Given the description of an element on the screen output the (x, y) to click on. 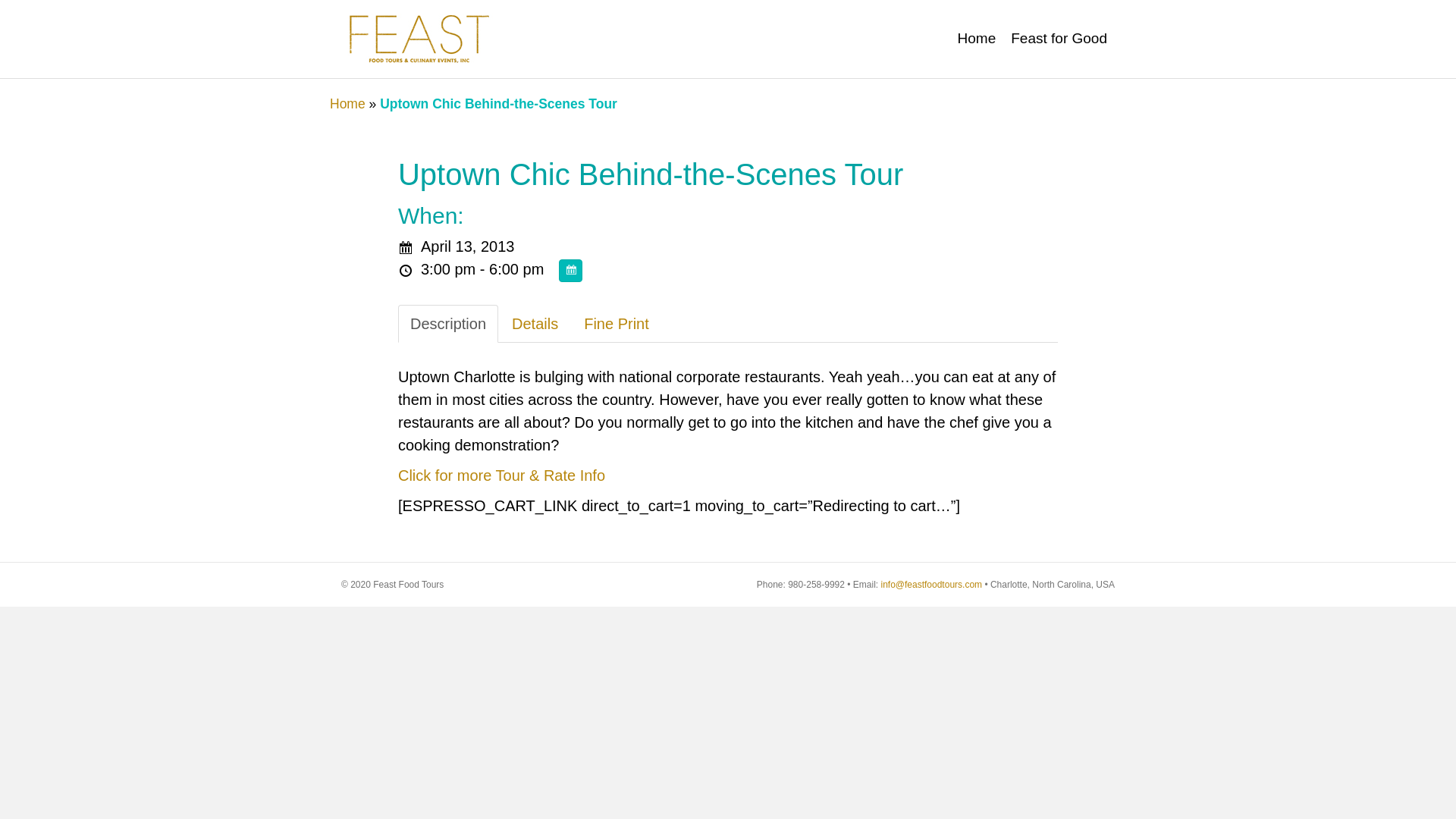
Home (977, 38)
Fine Print (616, 323)
Details (534, 323)
Uptown Chic Behind-the-Scenes Tour (649, 174)
Description (447, 323)
Home (347, 103)
Feast for Good (1059, 38)
Add to iCal Calendar (570, 270)
